Given the description of an element on the screen output the (x, y) to click on. 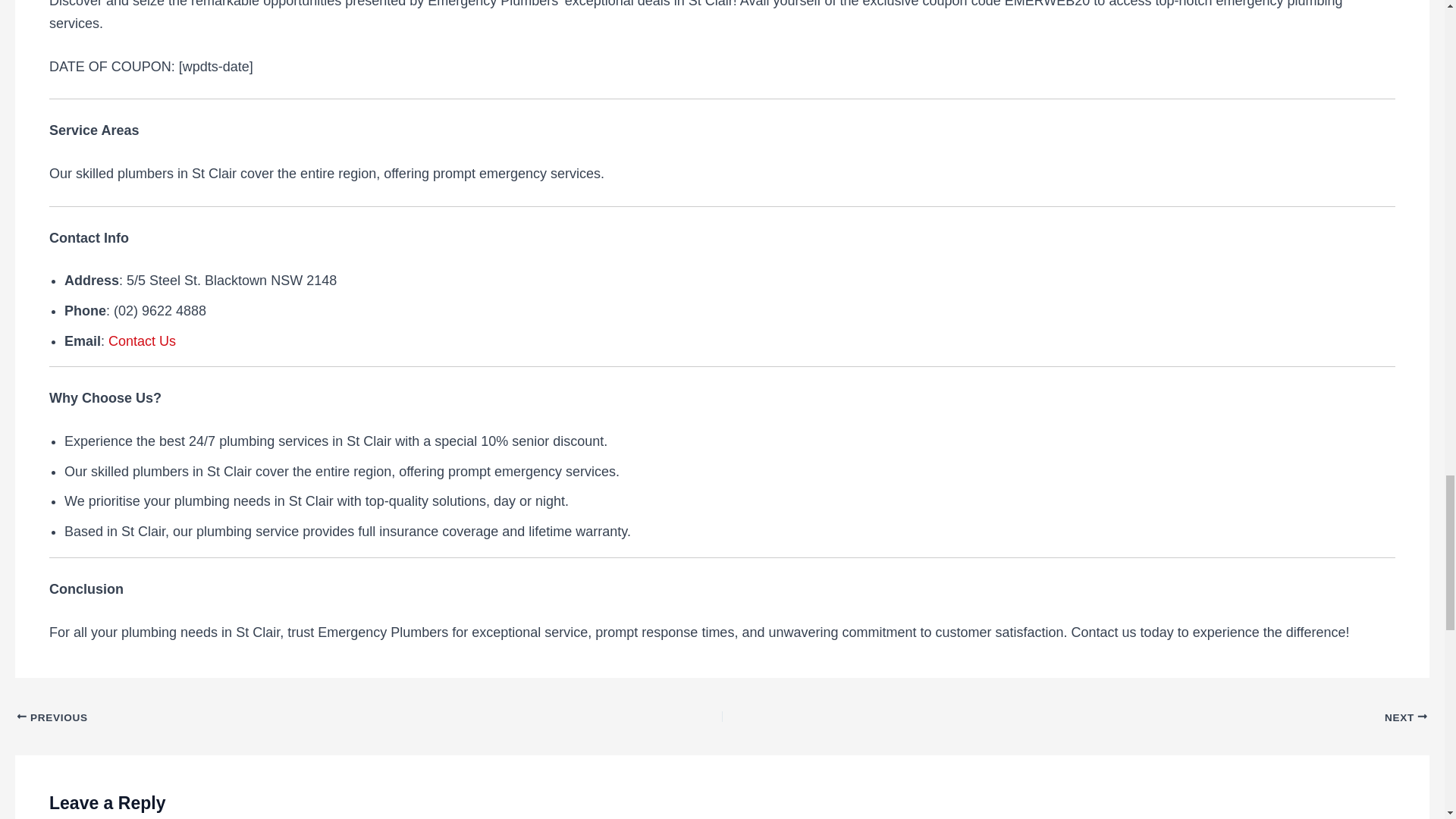
Plumber Ebenezer (1144, 716)
Plumber Sadleir (299, 716)
